Given the description of an element on the screen output the (x, y) to click on. 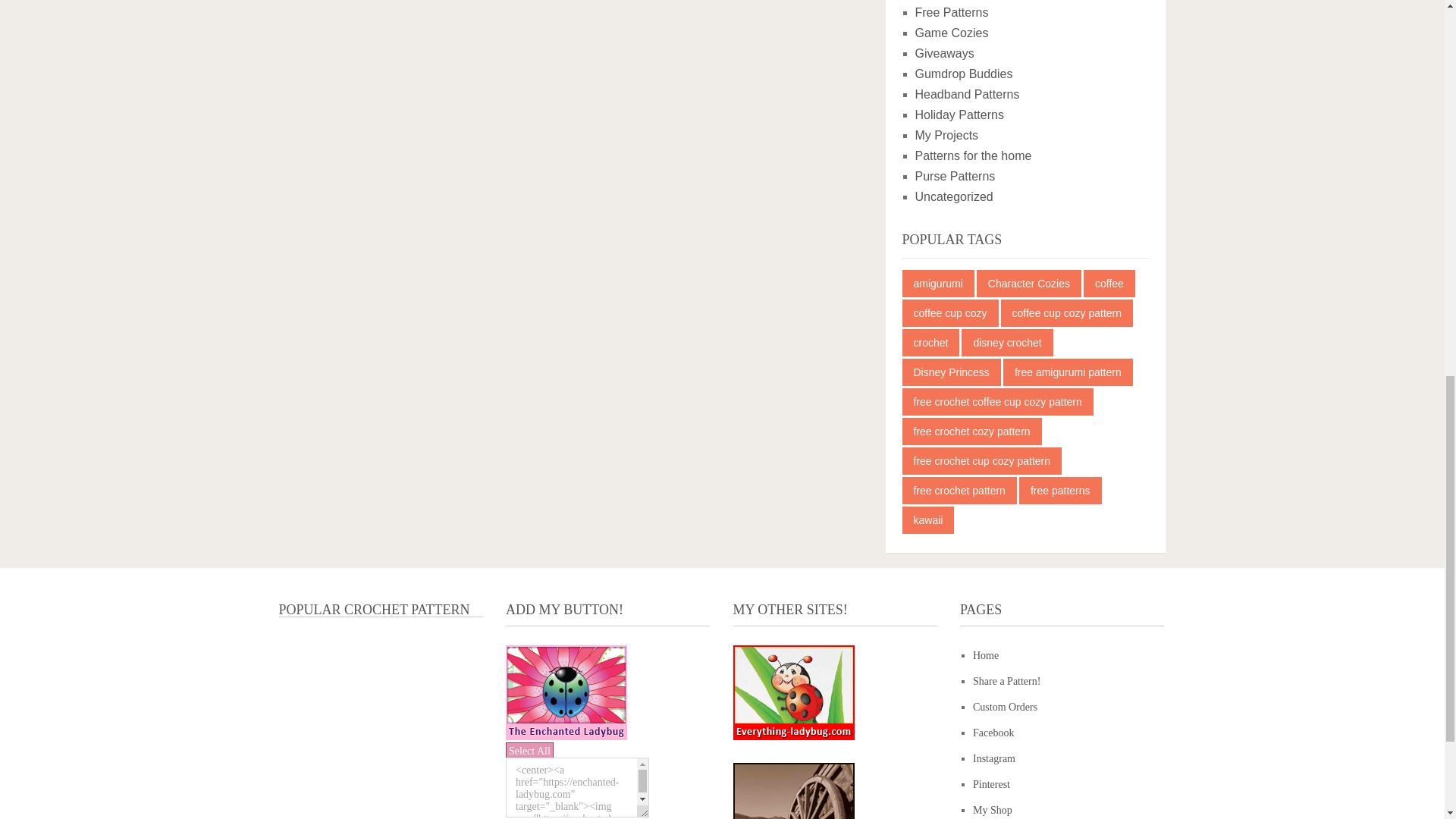
13 topics (938, 283)
Game Cozies (951, 32)
11 topics (1109, 283)
Free Patterns (951, 11)
6 topics (1067, 312)
12 topics (1028, 283)
Giveaways (944, 52)
13 topics (950, 312)
